Given the description of an element on the screen output the (x, y) to click on. 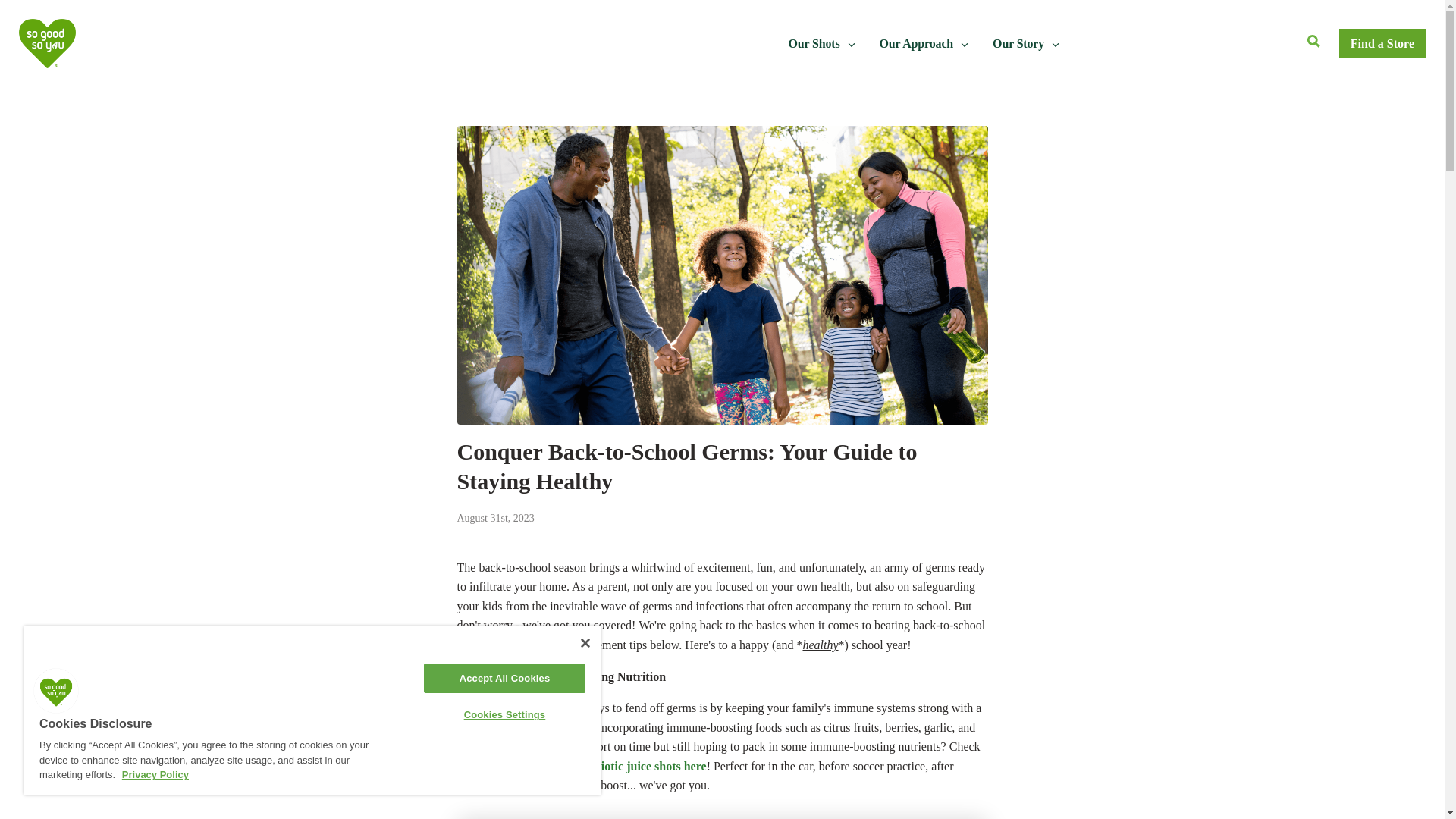
Our Approach (924, 43)
Company Logo (56, 690)
Find a Store (1382, 43)
Our Shots (821, 43)
Our Story (1025, 43)
